Given the description of an element on the screen output the (x, y) to click on. 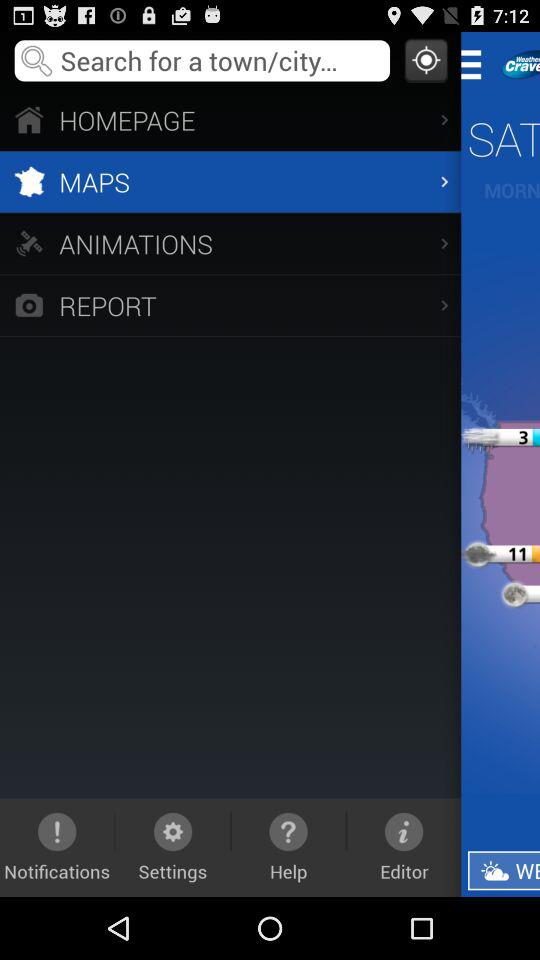
toggle to next tab (517, 64)
